Given the description of an element on the screen output the (x, y) to click on. 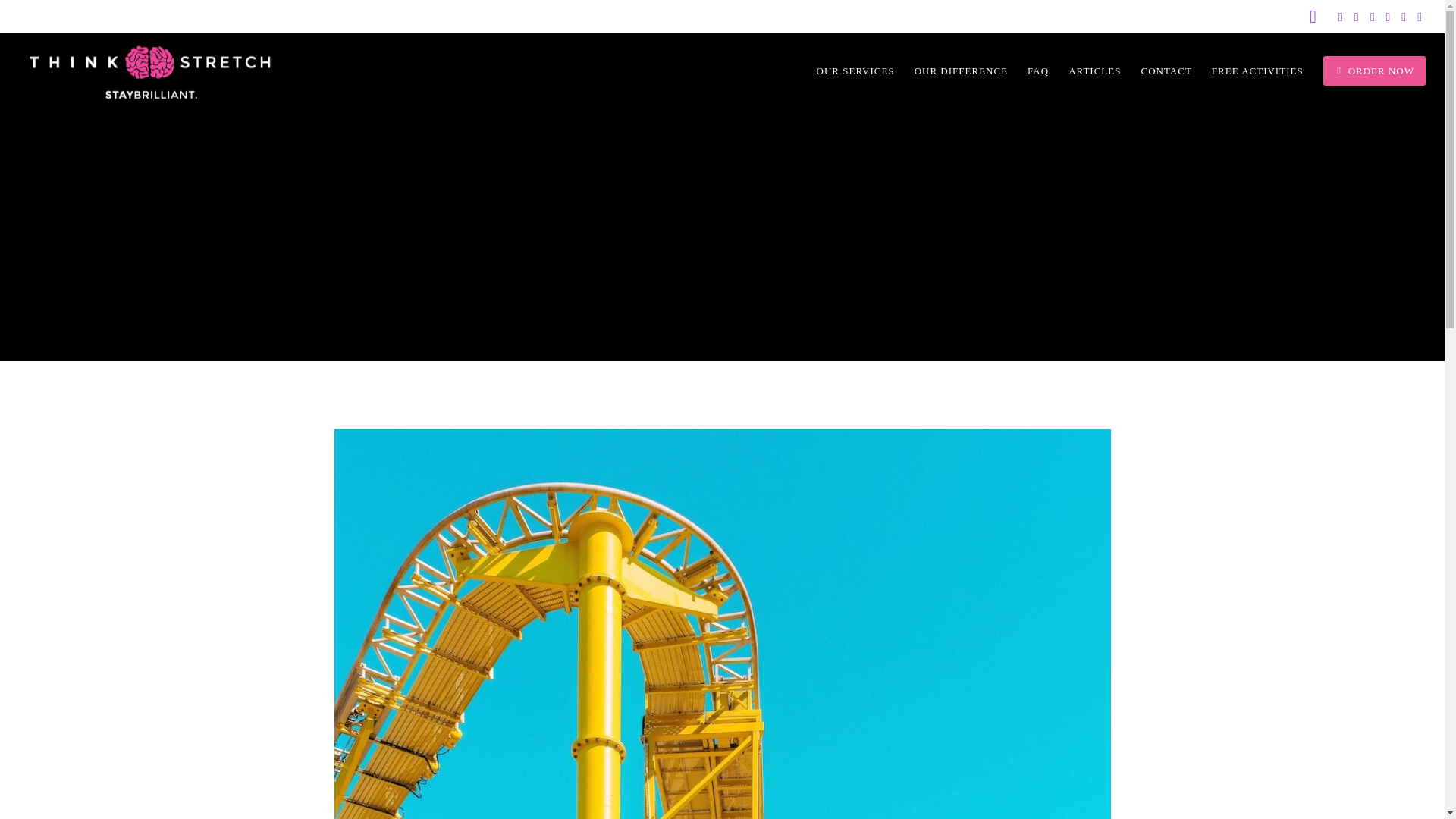
OUR SERVICES (845, 70)
ORDER NOW (1364, 70)
FREE ACTIVITIES (1247, 70)
ARTICLES (1084, 70)
CONTACT (1156, 70)
OUR DIFFERENCE (951, 70)
